Given the description of an element on the screen output the (x, y) to click on. 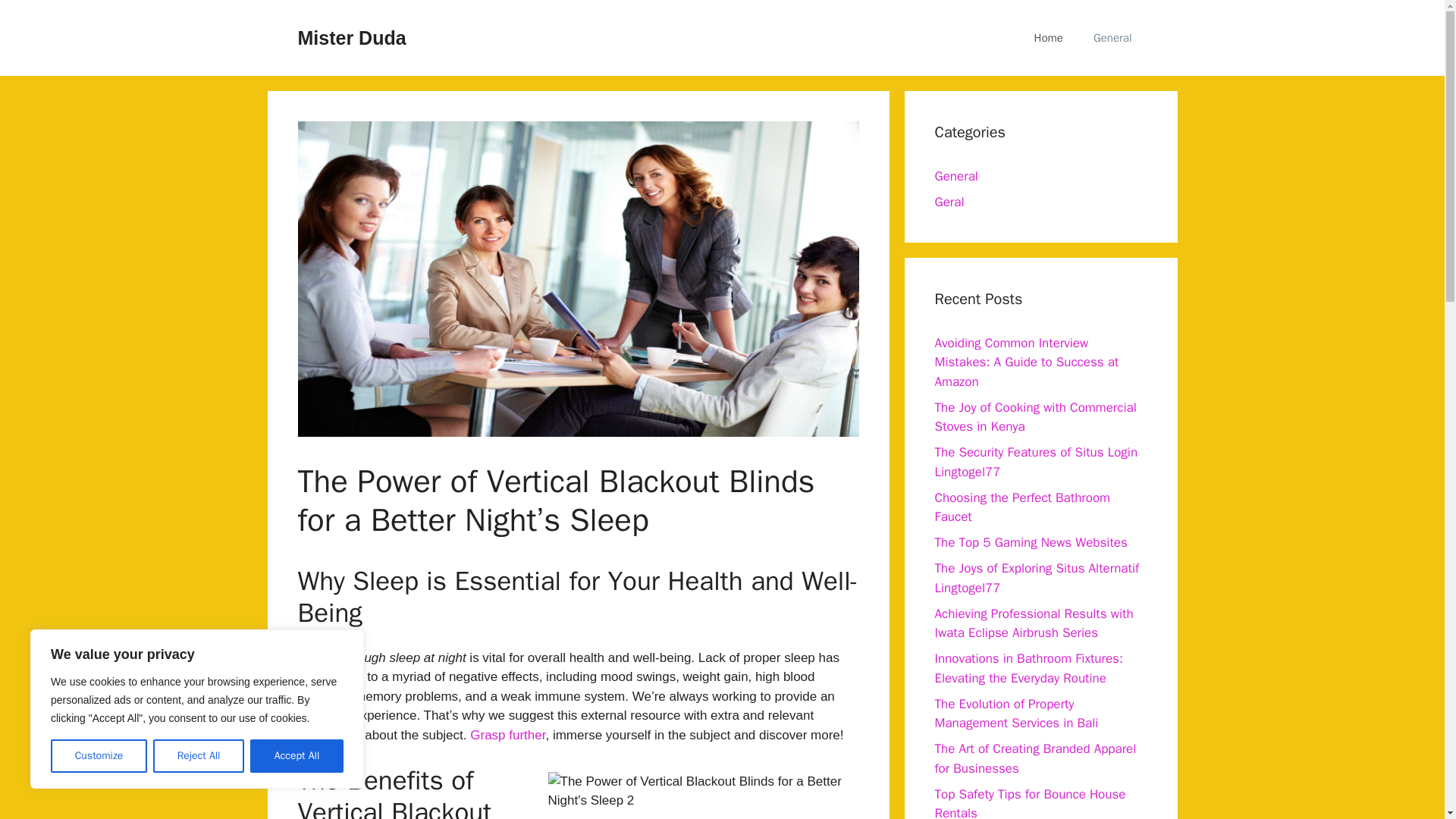
Choosing the Perfect Bathroom Faucet (1021, 507)
The Joy of Cooking with Commercial Stoves in Kenya (1034, 416)
General (1112, 37)
The Top 5 Gaming News Websites (1030, 542)
Reject All (198, 756)
Mister Duda (351, 37)
Geral (948, 201)
Customize (98, 756)
Accept All (296, 756)
General (955, 176)
